Given the description of an element on the screen output the (x, y) to click on. 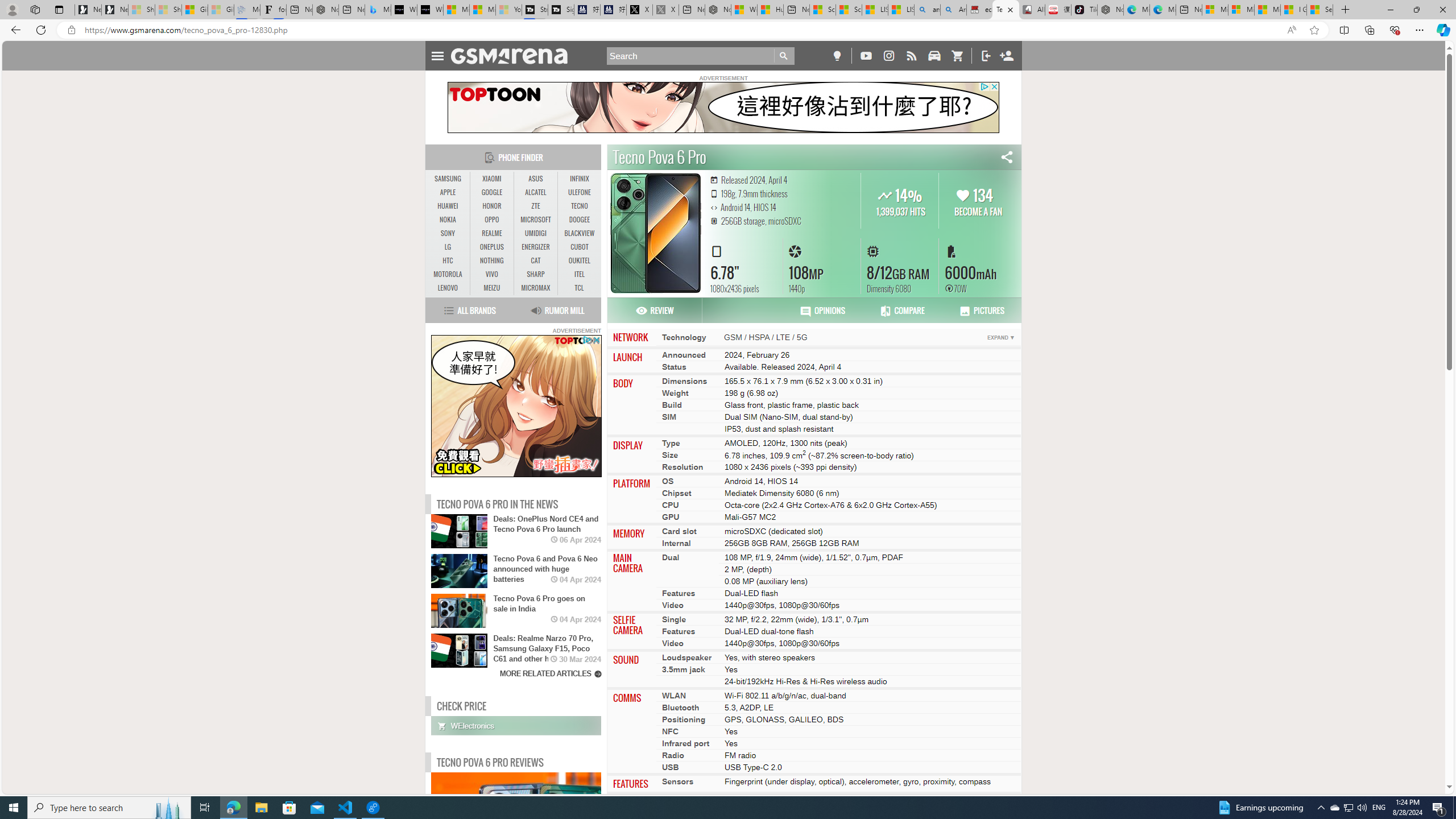
CPU (670, 505)
TCL (578, 287)
MEIZU (491, 287)
Wildlife - MSN (743, 9)
APPLE (448, 192)
Resolution (682, 466)
HTC (448, 260)
Tecno Pova 6 Pro MORE PICTURES (654, 233)
